Given the description of an element on the screen output the (x, y) to click on. 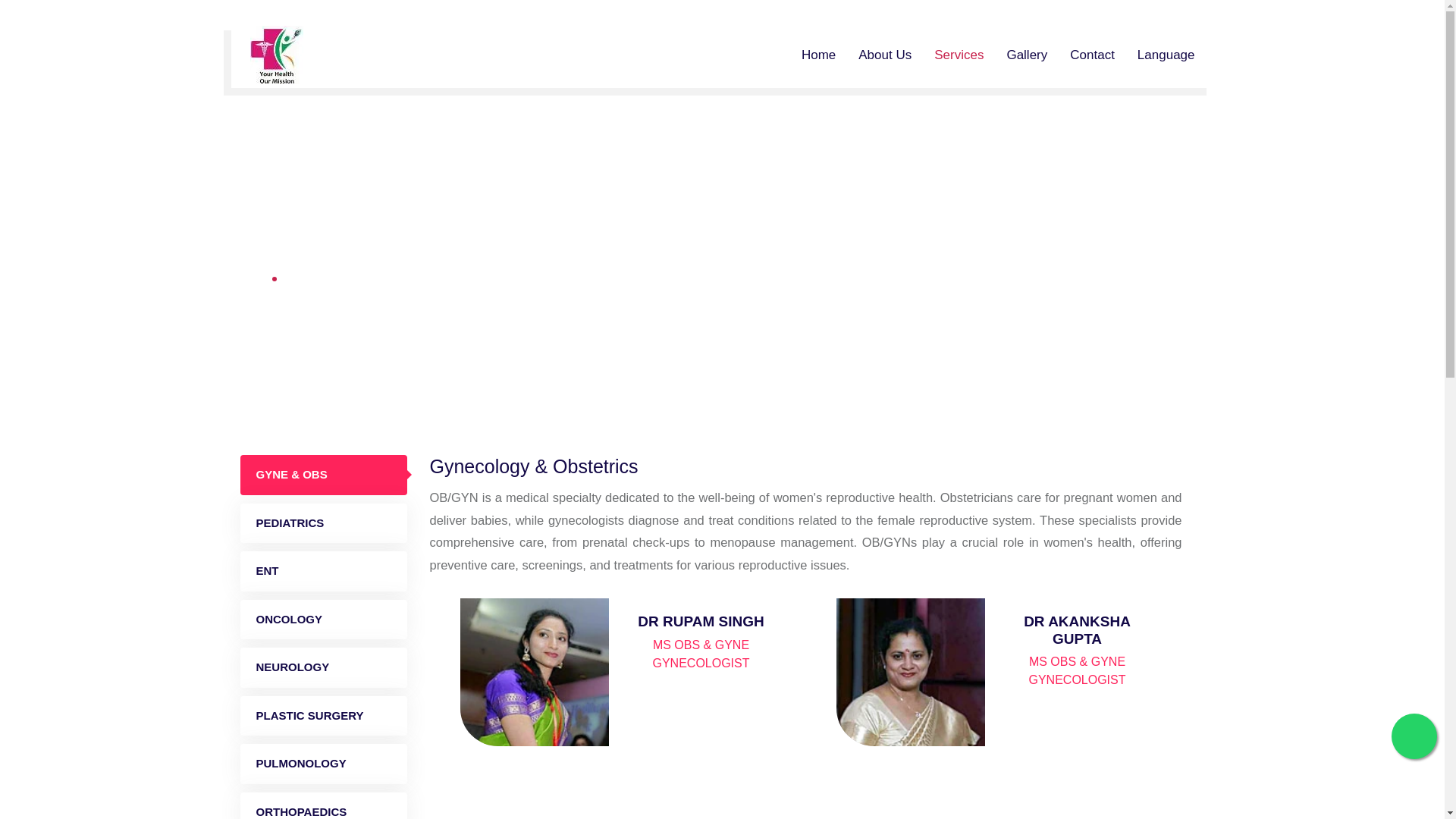
PULMONOLOGY (323, 763)
PLASTIC SURGERY (323, 716)
ENT (323, 571)
ORTHOPAEDICS (323, 805)
ONCOLOGY (323, 618)
Home (247, 278)
NEUROLOGY (323, 667)
PEDIATRICS (323, 523)
